Given the description of an element on the screen output the (x, y) to click on. 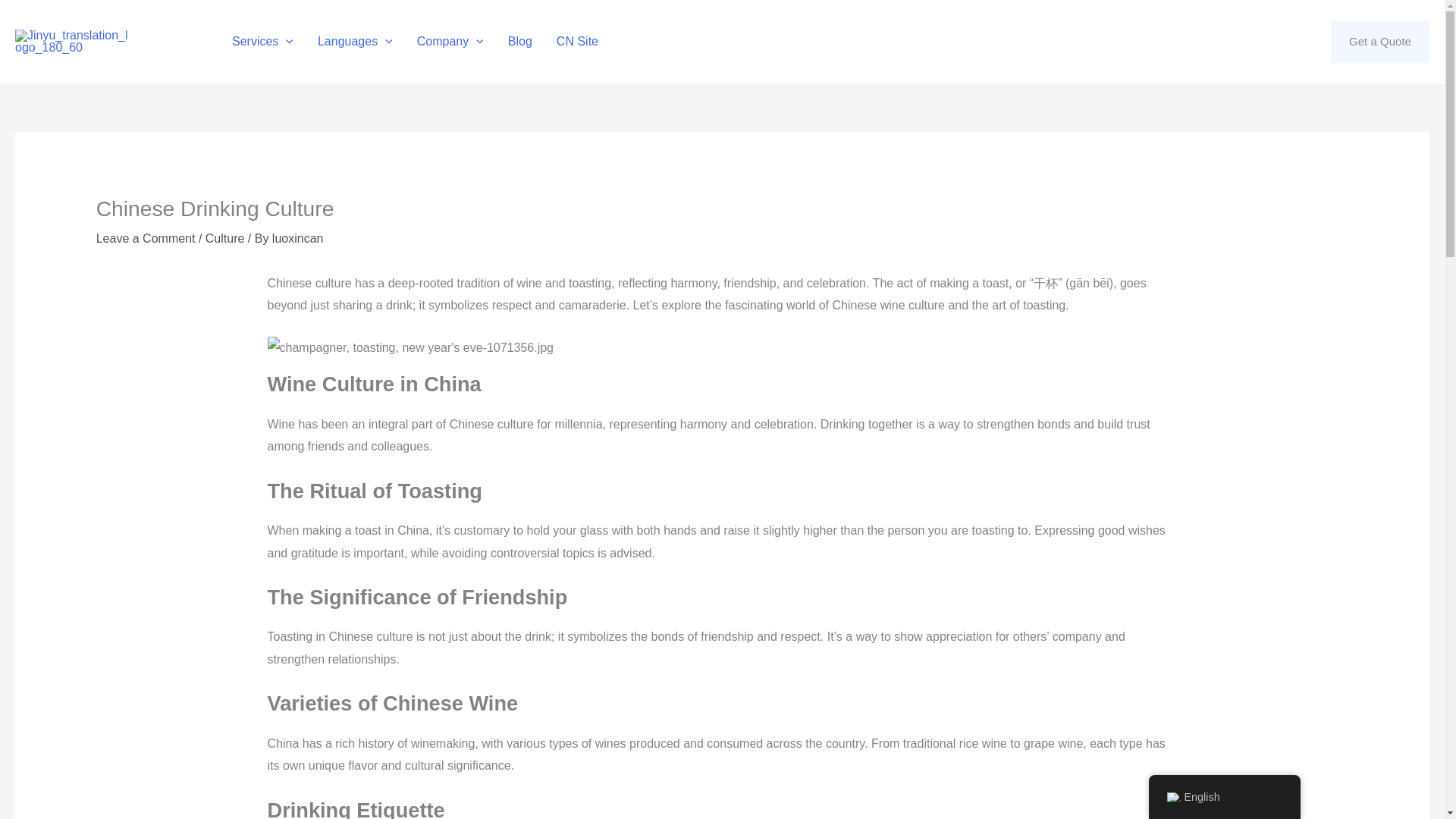
English (1172, 796)
View all posts by luoxincan (297, 237)
Services (262, 41)
